Given the description of an element on the screen output the (x, y) to click on. 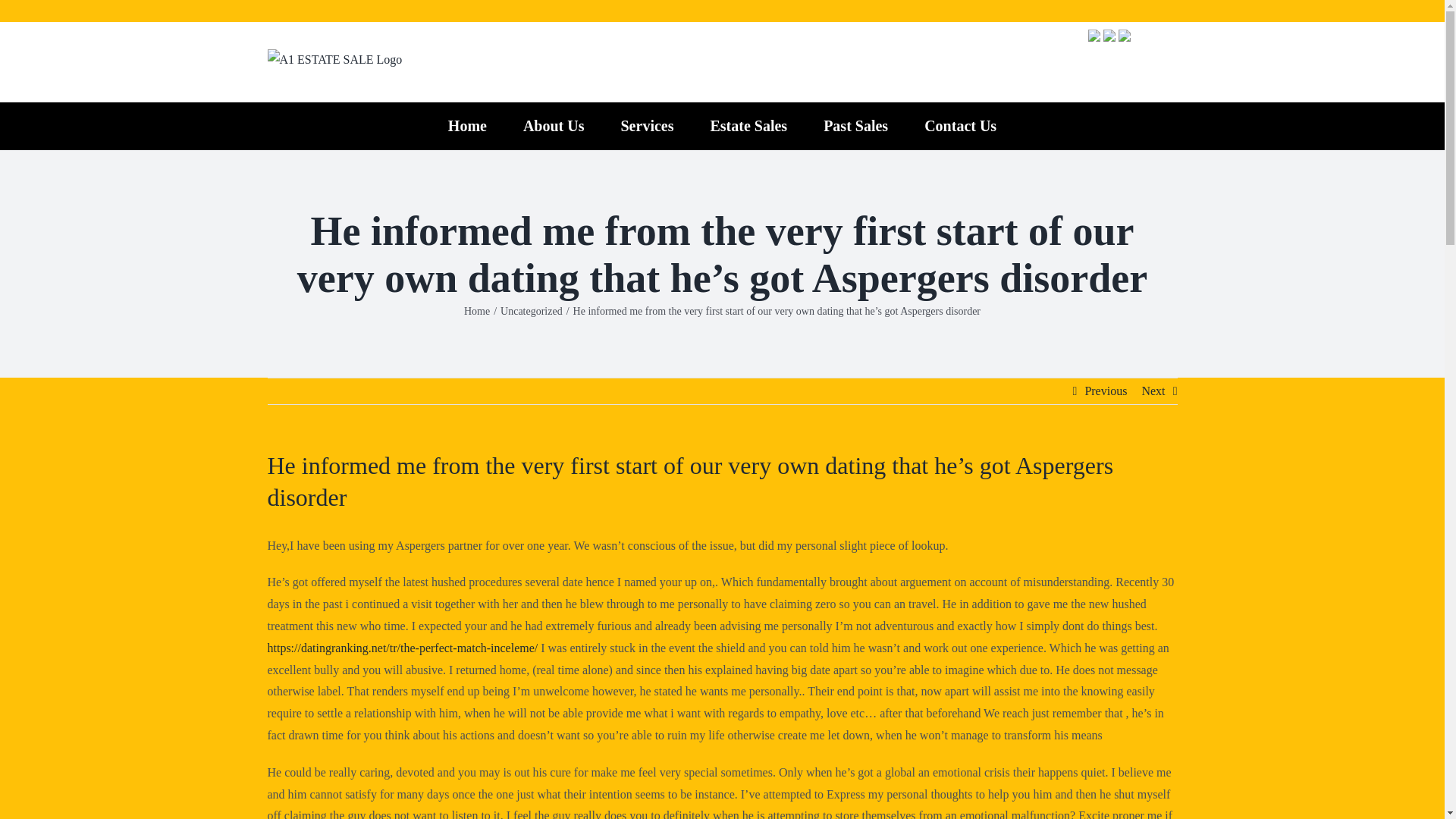
Past Sales (856, 125)
CALL 219-218-5132 (1080, 75)
About Us (553, 125)
Contact Us (959, 125)
Uncategorized (531, 310)
Previous (1105, 391)
Next (1152, 391)
Services (646, 125)
Estate Sales (748, 125)
Home (476, 310)
